Given the description of an element on the screen output the (x, y) to click on. 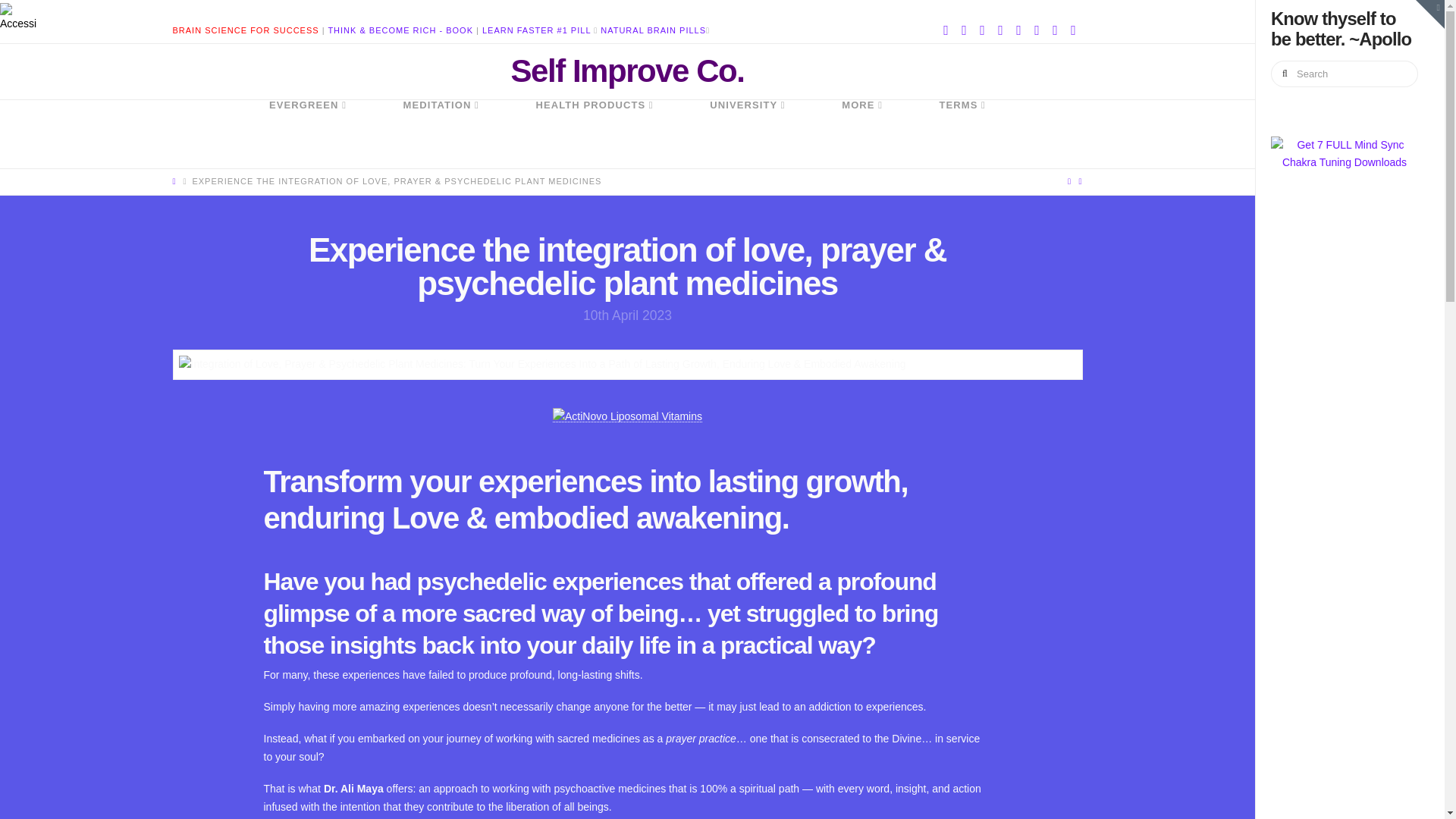
Know Thyself to become better! (627, 70)
NATURAL BRAIN PILLS (652, 30)
Brain Science for Success (245, 30)
Self Improve Co. (627, 70)
BRAIN SCIENCE FOR SUCCESS (245, 30)
EVERGREEN (307, 133)
MEDITATION (440, 133)
